Given the description of an element on the screen output the (x, y) to click on. 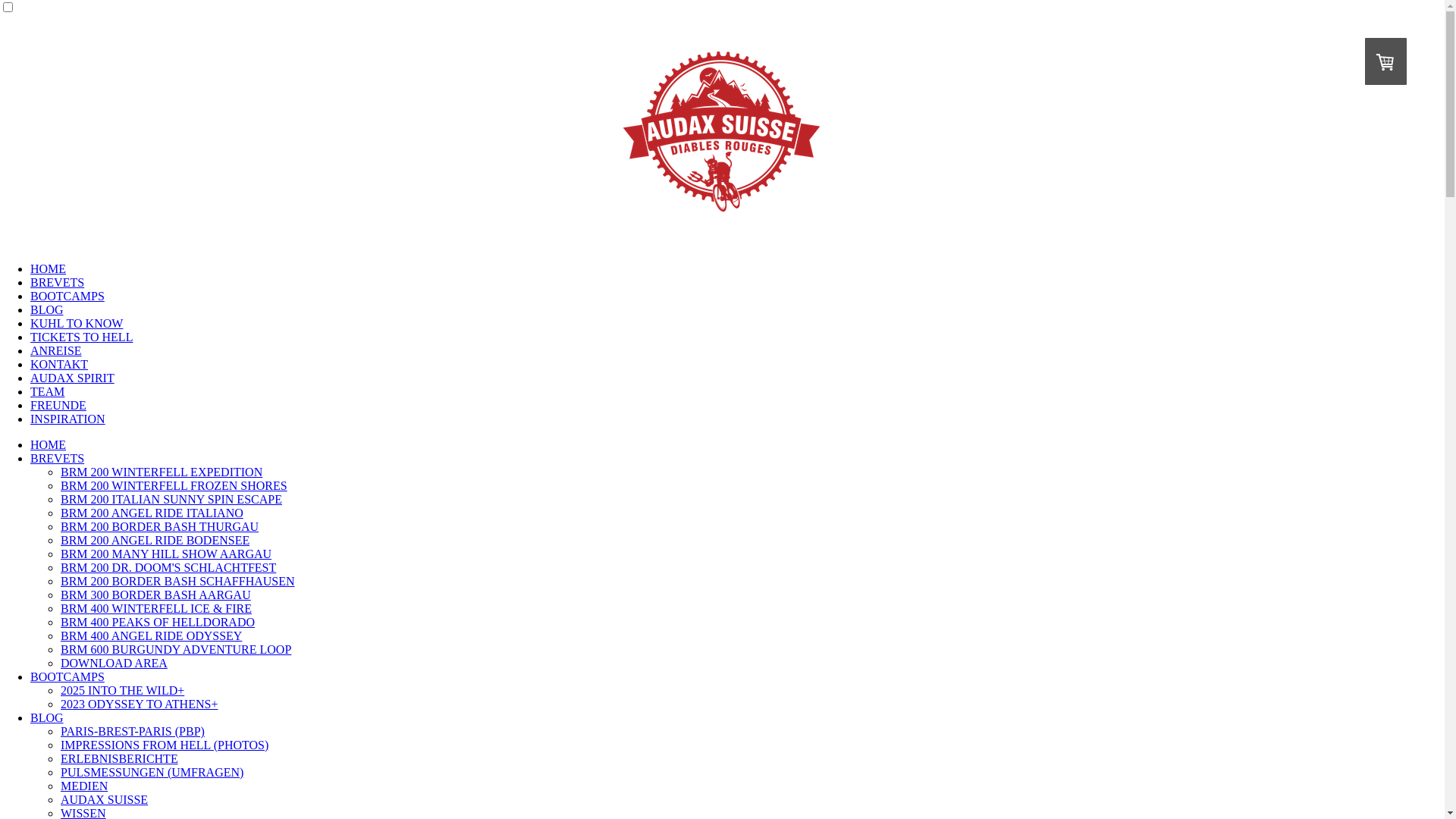
2025 INTO THE WILD+ Element type: text (122, 690)
FREUNDE Element type: text (58, 404)
HOME Element type: text (47, 444)
BRM 300 BORDER BASH AARGAU Element type: text (155, 594)
KUHL TO KNOW Element type: text (76, 322)
BRM 200 WINTERFELL FROZEN SHORES Element type: text (173, 485)
BLOG Element type: text (46, 309)
MEDIEN Element type: text (83, 785)
ERLEBNISBERICHTE Element type: text (119, 758)
BREVETS Element type: text (57, 457)
BRM 600 BURGUNDY ADVENTURE LOOP Element type: text (175, 649)
AUDAX SPIRIT Element type: text (72, 377)
INSPIRATION Element type: text (67, 418)
BRM 200 DR. DOOM'S SCHLACHTFEST Element type: text (168, 567)
DOWNLOAD AREA Element type: text (113, 662)
KONTAKT Element type: text (58, 363)
BRM 200 BORDER BASH SCHAFFHAUSEN Element type: text (177, 580)
BRM 200 ITALIAN SUNNY SPIN ESCAPE Element type: text (171, 498)
BRM 200 MANY HILL SHOW AARGAU Element type: text (165, 553)
BOOTCAMPS Element type: text (67, 295)
AUDAX SUISSE Element type: text (103, 799)
ANREISE Element type: text (55, 350)
TEAM Element type: text (47, 391)
BRM 200 ANGEL RIDE BODENSEE Element type: text (154, 539)
BRM 200 WINTERFELL EXPEDITION Element type: text (161, 471)
BRM 400 WINTERFELL ICE & FIRE Element type: text (155, 608)
BRM 400 ANGEL RIDE ODYSSEY Element type: text (150, 635)
BRM 200 BORDER BASH THURGAU Element type: text (159, 526)
BRM 400 PEAKS OF HELLDORADO Element type: text (157, 621)
PULSMESSUNGEN (UMFRAGEN) Element type: text (151, 771)
TICKETS TO HELL Element type: text (81, 336)
IMPRESSIONS FROM HELL (PHOTOS) Element type: text (164, 744)
BREVETS Element type: text (57, 282)
2023 ODYSSEY TO ATHENS+ Element type: text (138, 703)
BLOG Element type: text (46, 717)
HOME Element type: text (47, 268)
PARIS-BREST-PARIS (PBP) Element type: text (132, 730)
BRM 200 ANGEL RIDE ITALIANO Element type: text (151, 512)
BOOTCAMPS Element type: text (67, 676)
